Given the description of an element on the screen output the (x, y) to click on. 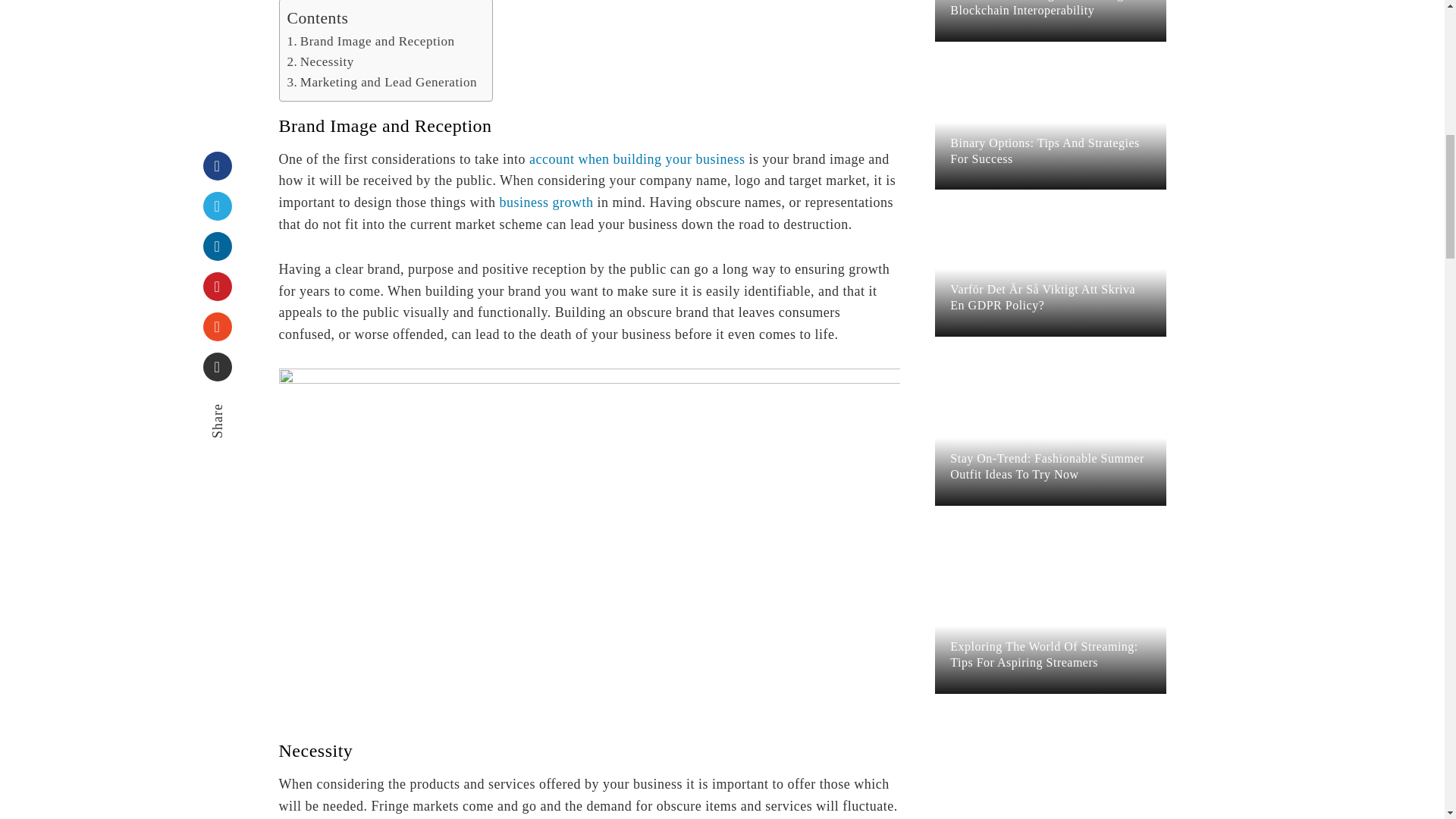
Brand Image and Reception (370, 41)
Marketing and Lead Generation (381, 82)
Necessity (319, 61)
